Given the description of an element on the screen output the (x, y) to click on. 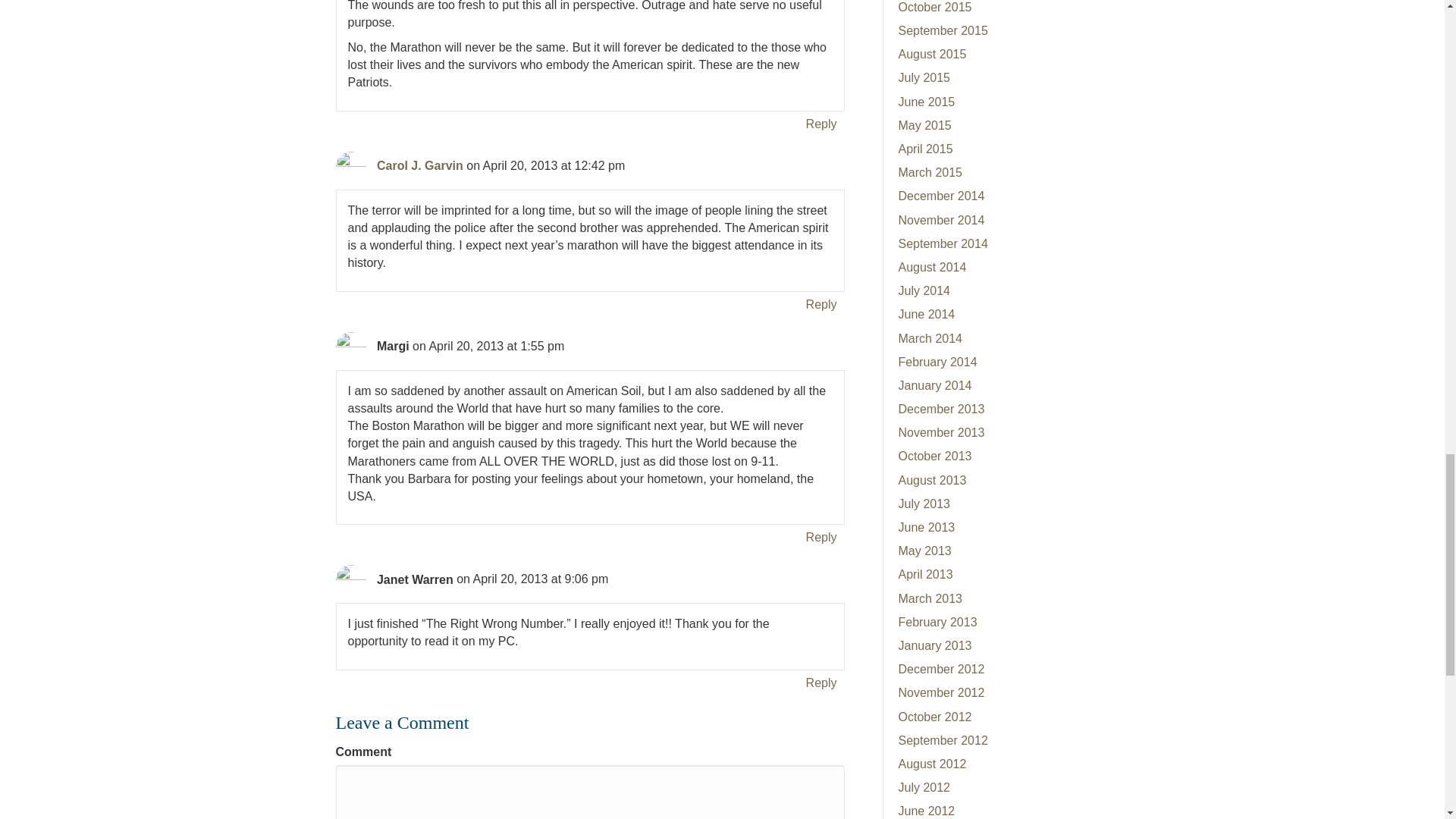
Carol J. Garvin (420, 164)
Reply (821, 537)
Reply (821, 682)
Reply (821, 304)
Reply (821, 123)
